Given the description of an element on the screen output the (x, y) to click on. 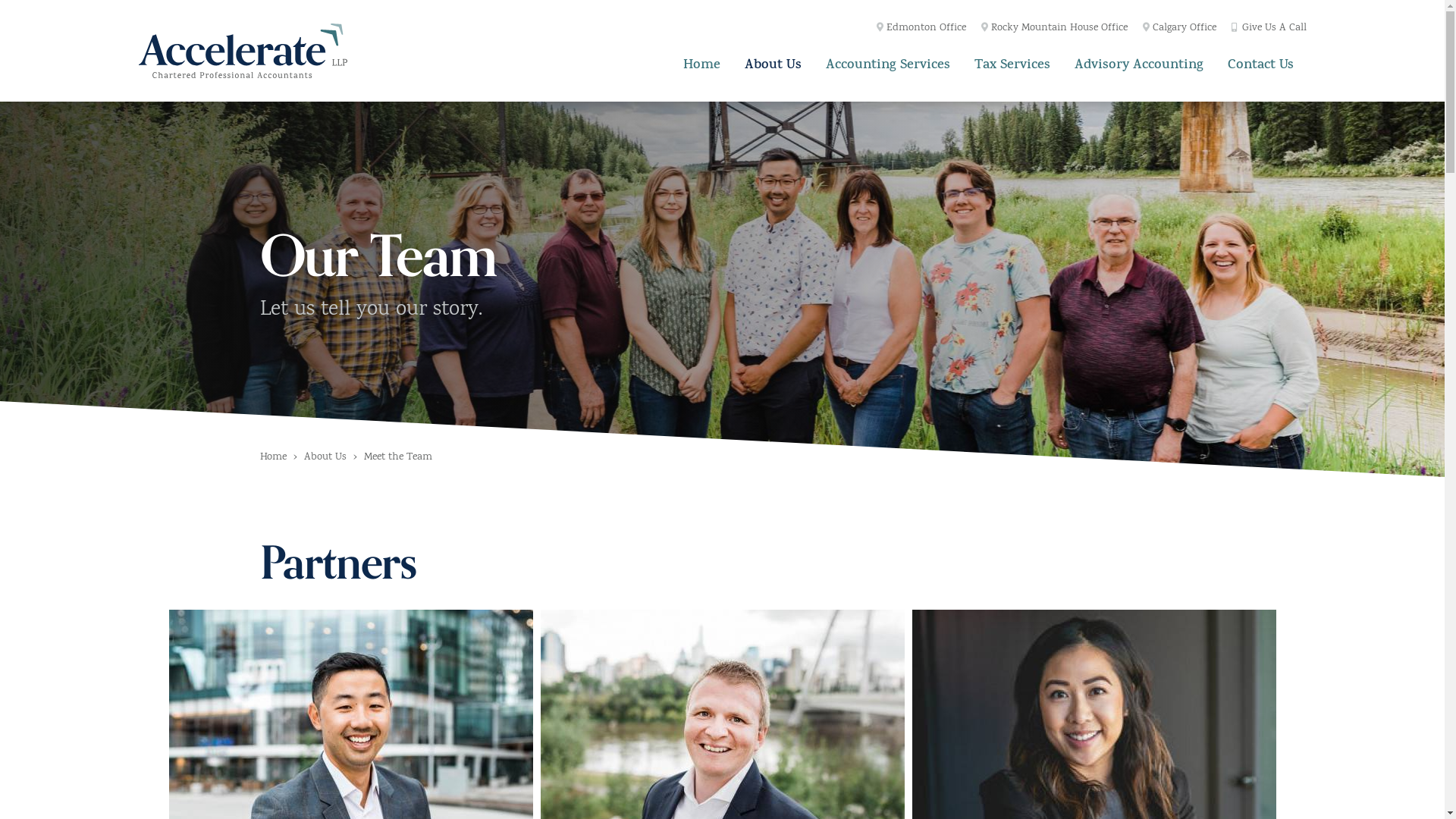
Edmonton Office Element type: text (921, 28)
About Us Element type: text (325, 457)
Contact Us Element type: text (1260, 63)
Home Element type: text (272, 457)
Home Element type: text (701, 63)
Tax Services Element type: text (1012, 63)
About Us Element type: text (772, 63)
Meet the Team Element type: text (398, 457)
Rocky Mountain House Office Element type: text (1054, 28)
Calgary Office Element type: text (1179, 28)
Give Us A Call Element type: text (1268, 28)
Accelerate Chartered Professional Accountants Element type: text (242, 50)
Advisory Accounting Element type: text (1138, 63)
Accounting Services Element type: text (887, 63)
